Given the description of an element on the screen output the (x, y) to click on. 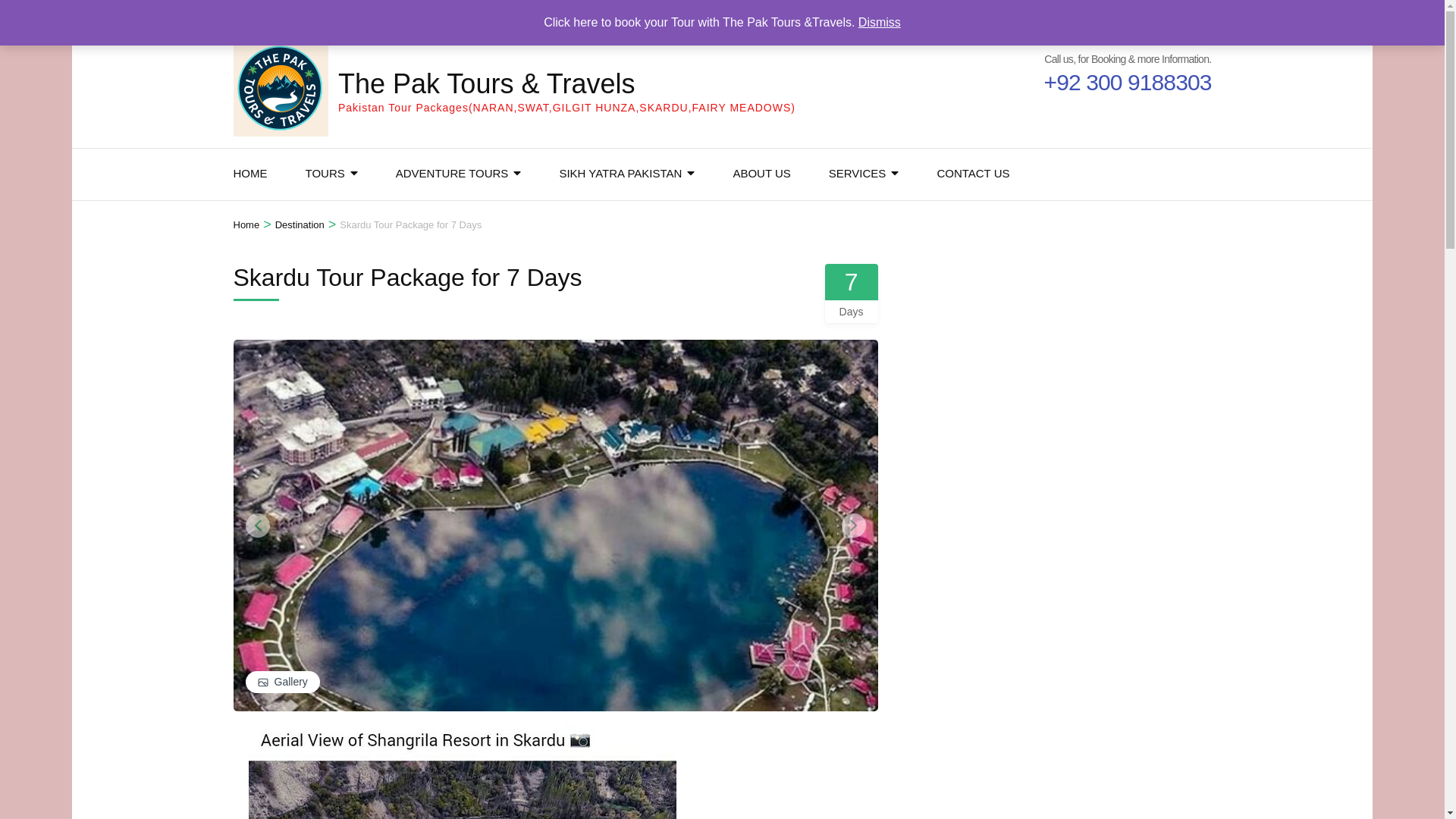
Adventure Tours (452, 173)
